Given the description of an element on the screen output the (x, y) to click on. 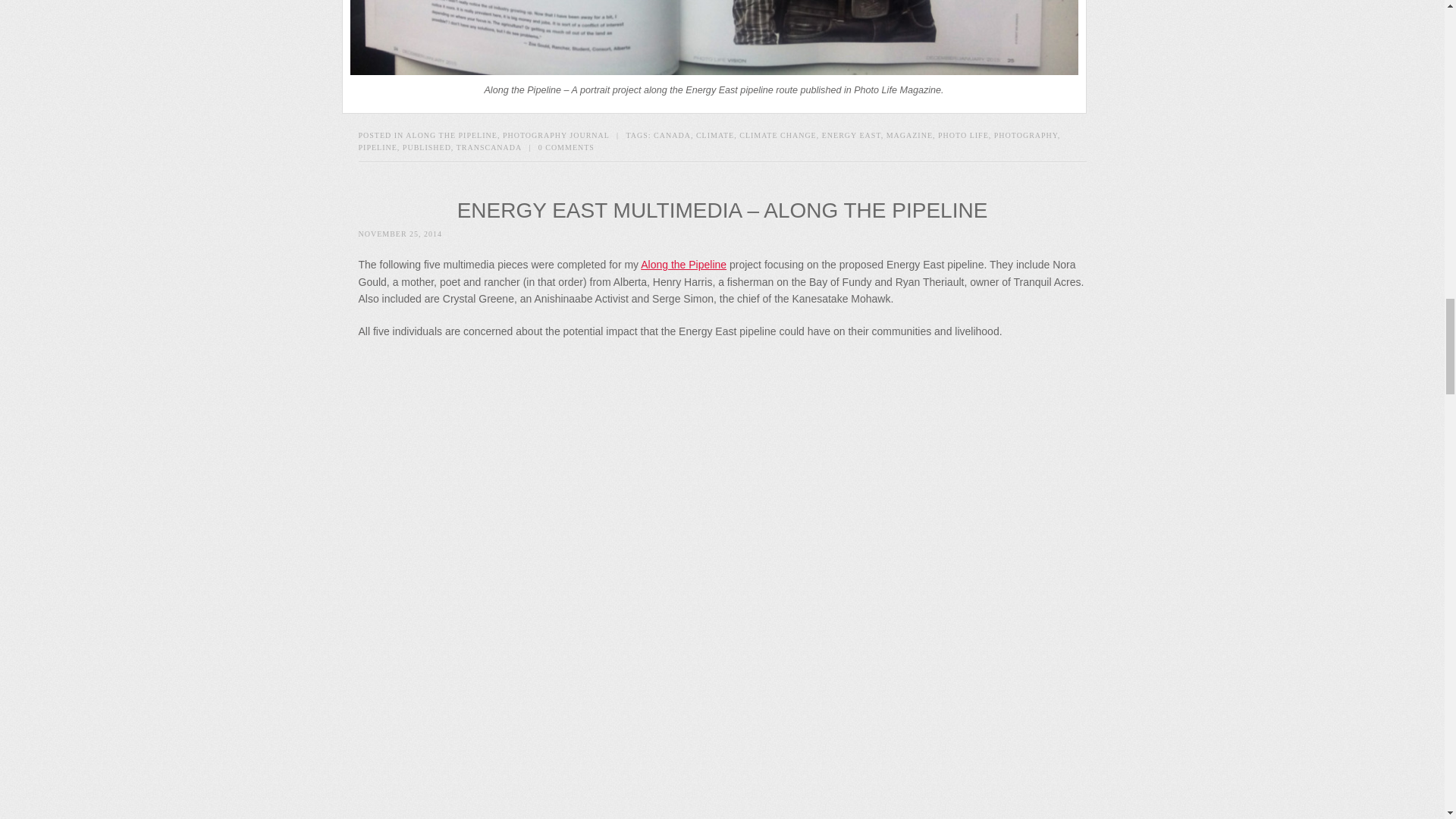
4:40 pm (400, 234)
